Given the description of an element on the screen output the (x, y) to click on. 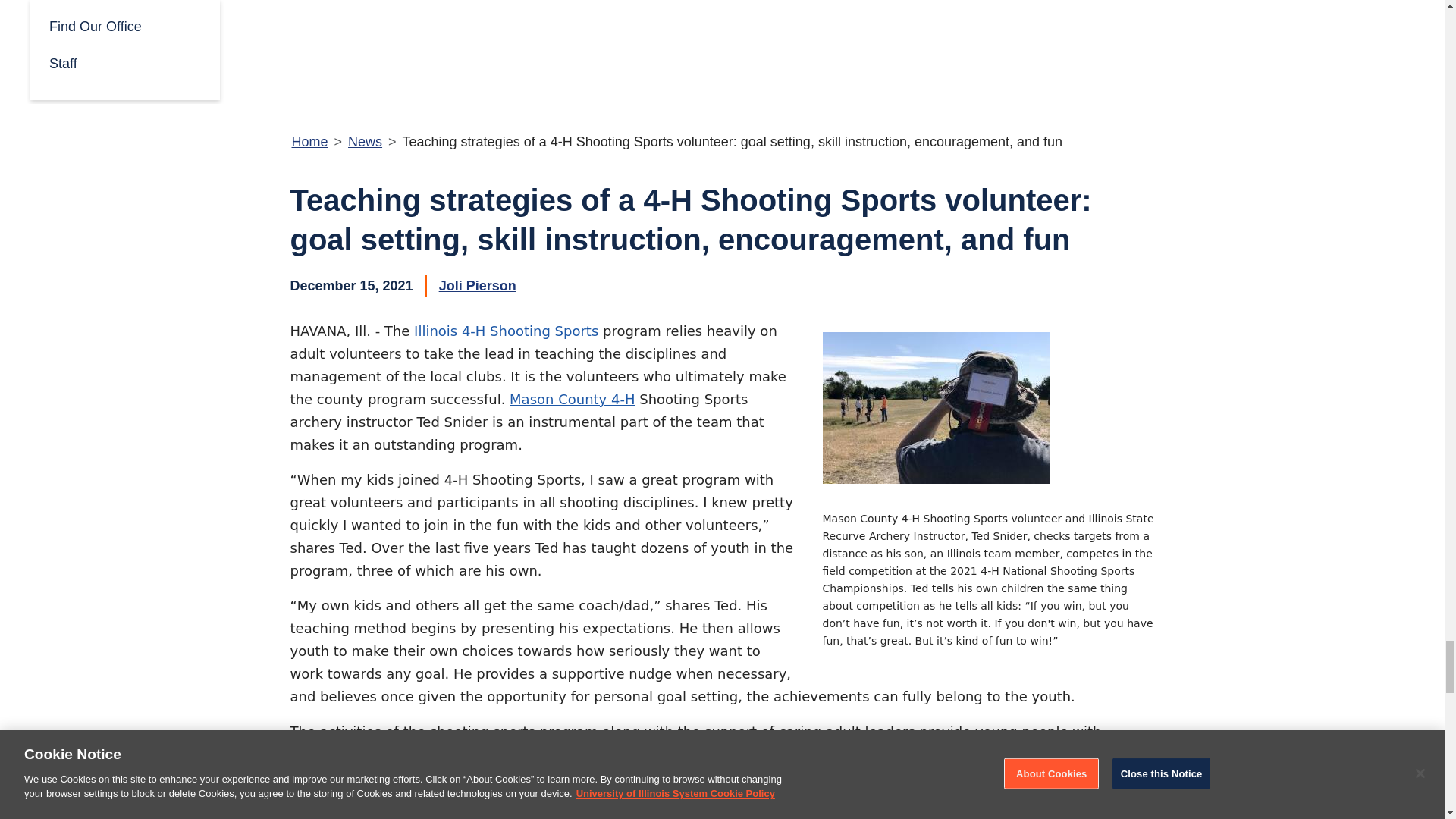
Staff (125, 62)
Joli Pierson (477, 285)
Home (309, 141)
Find Our Office (125, 25)
News (364, 141)
